Given the description of an element on the screen output the (x, y) to click on. 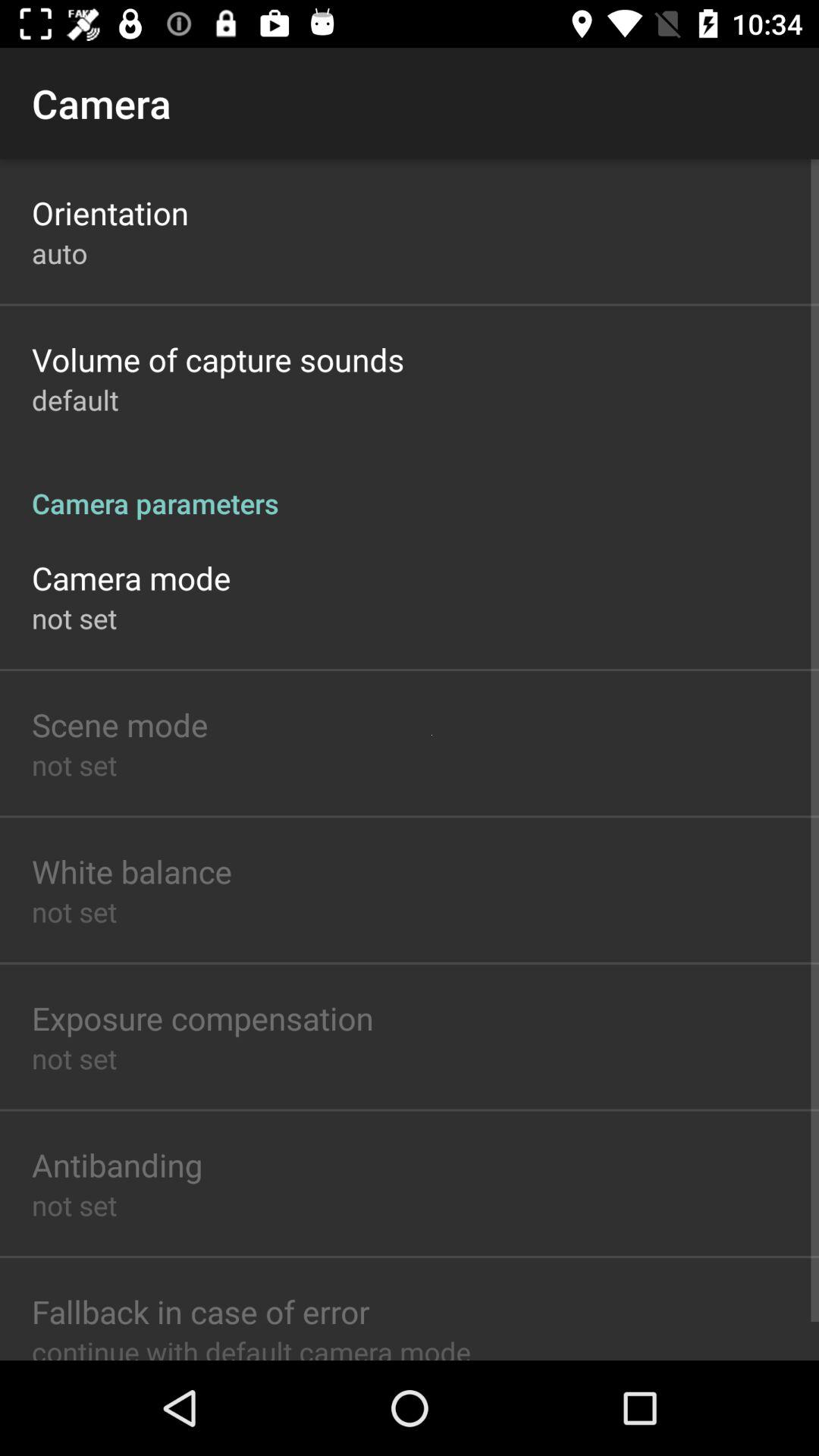
swipe to the scene mode (119, 724)
